Given the description of an element on the screen output the (x, y) to click on. 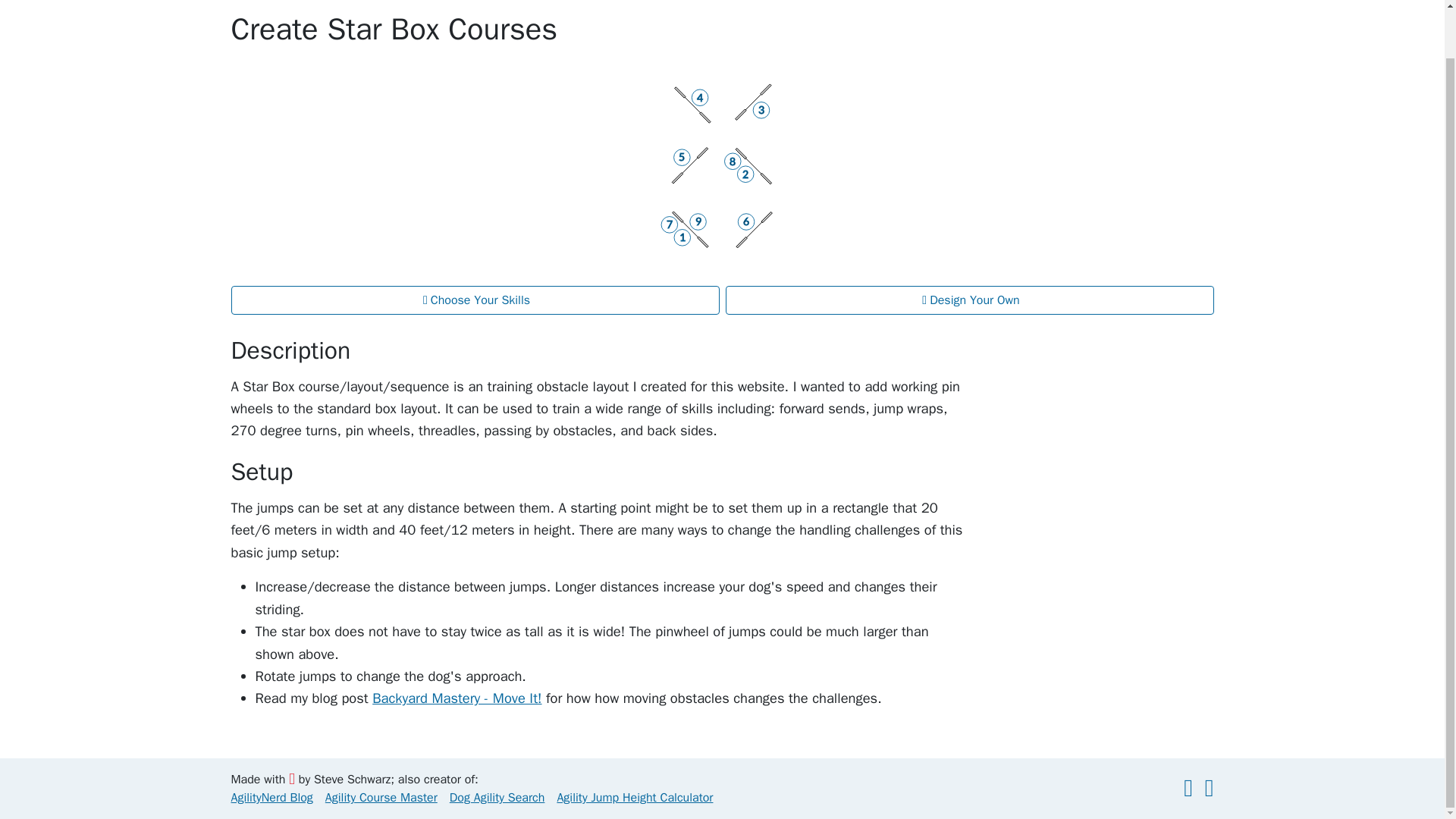
AgilityNerd Blog (271, 797)
Agility Jump Height Calculator (634, 797)
Choose Your Skills (474, 299)
Design Your Own (968, 299)
Backyard Mastery - Move It! (456, 697)
Agility Course Master (381, 797)
Dog Agility Search (496, 797)
